Given the description of an element on the screen output the (x, y) to click on. 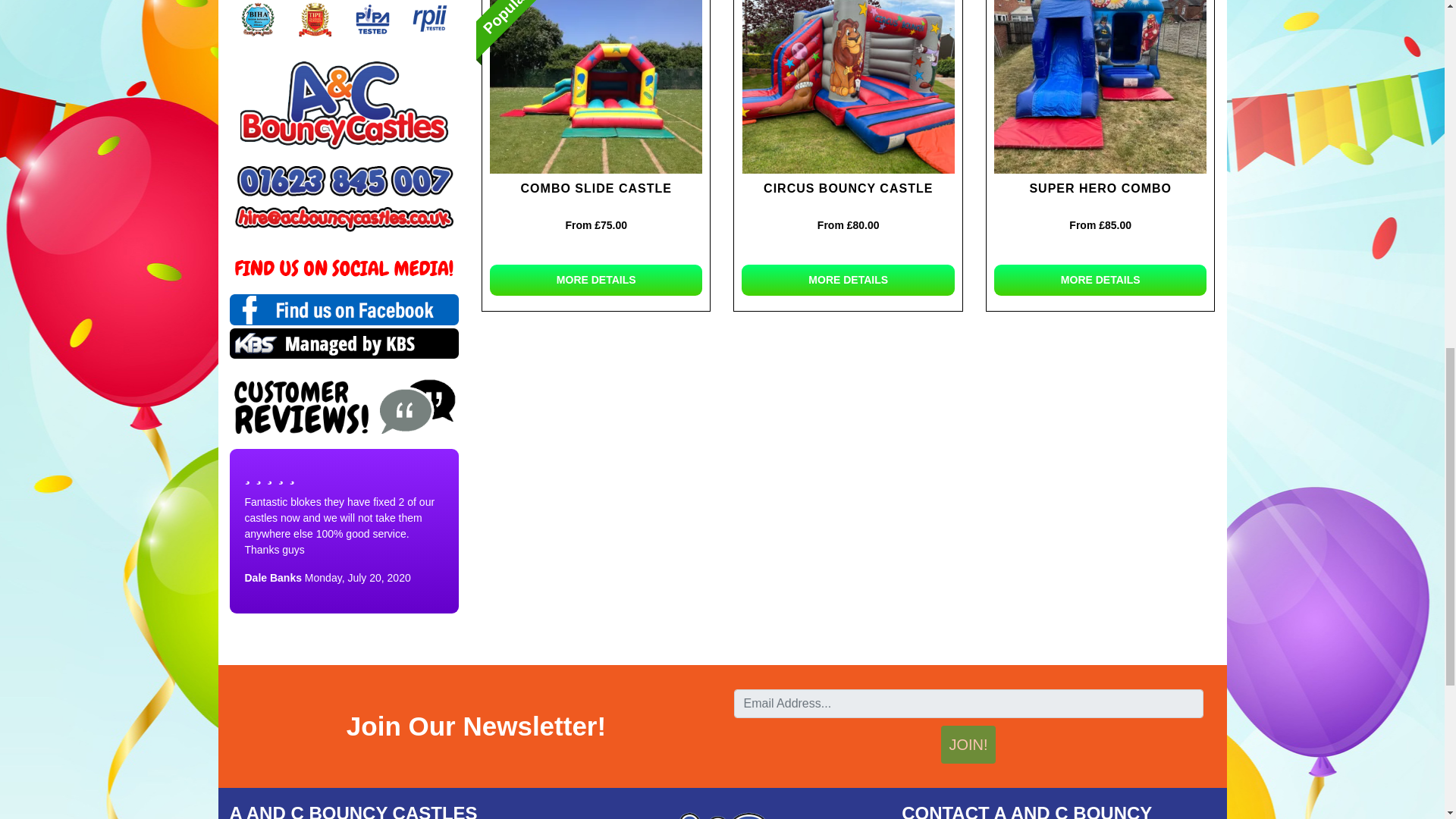
View More (595, 86)
Call Us Today 01623845007 (343, 180)
Join! (967, 744)
